Given the description of an element on the screen output the (x, y) to click on. 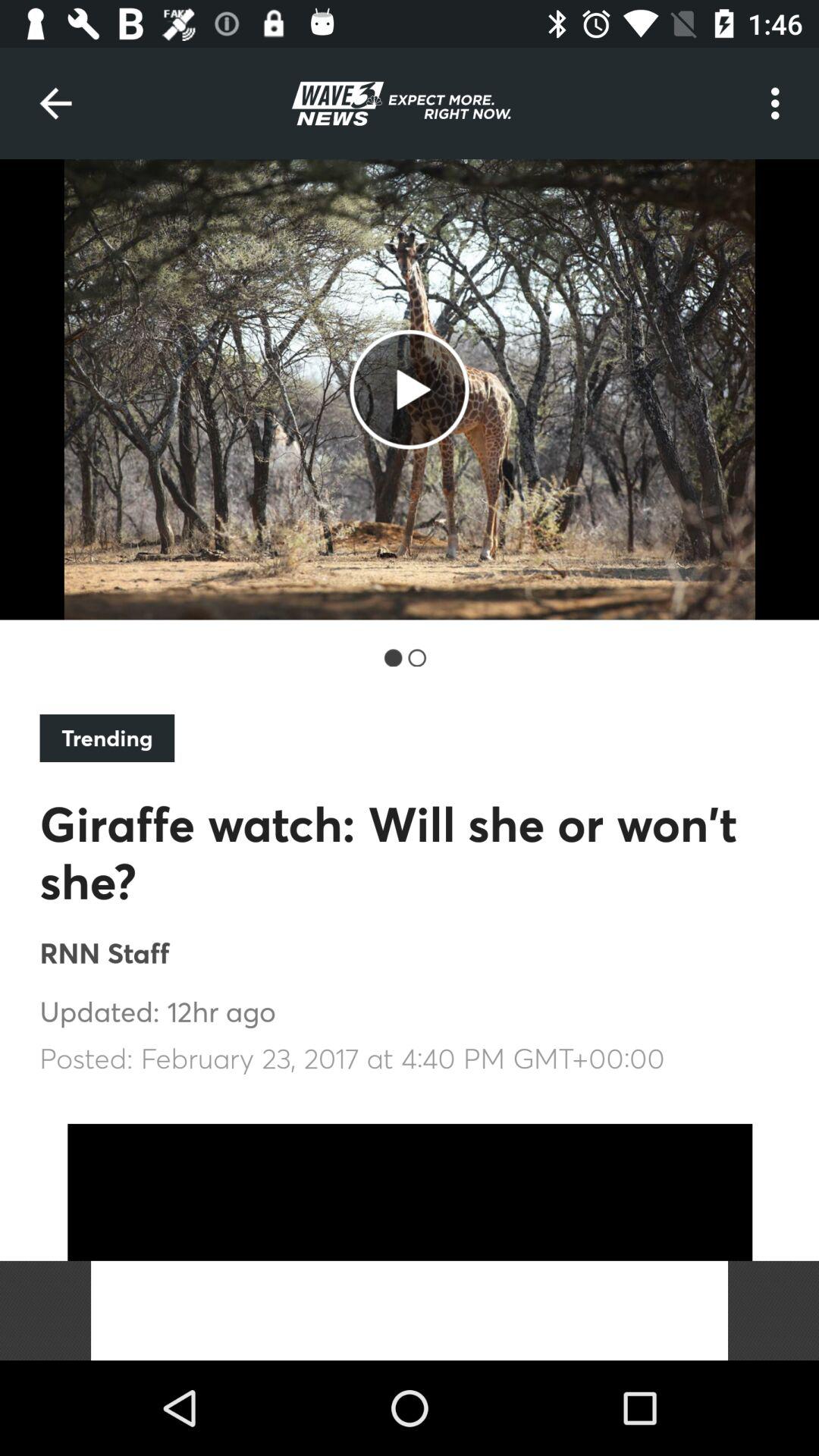
press the icon at the top left corner (55, 103)
